Given the description of an element on the screen output the (x, y) to click on. 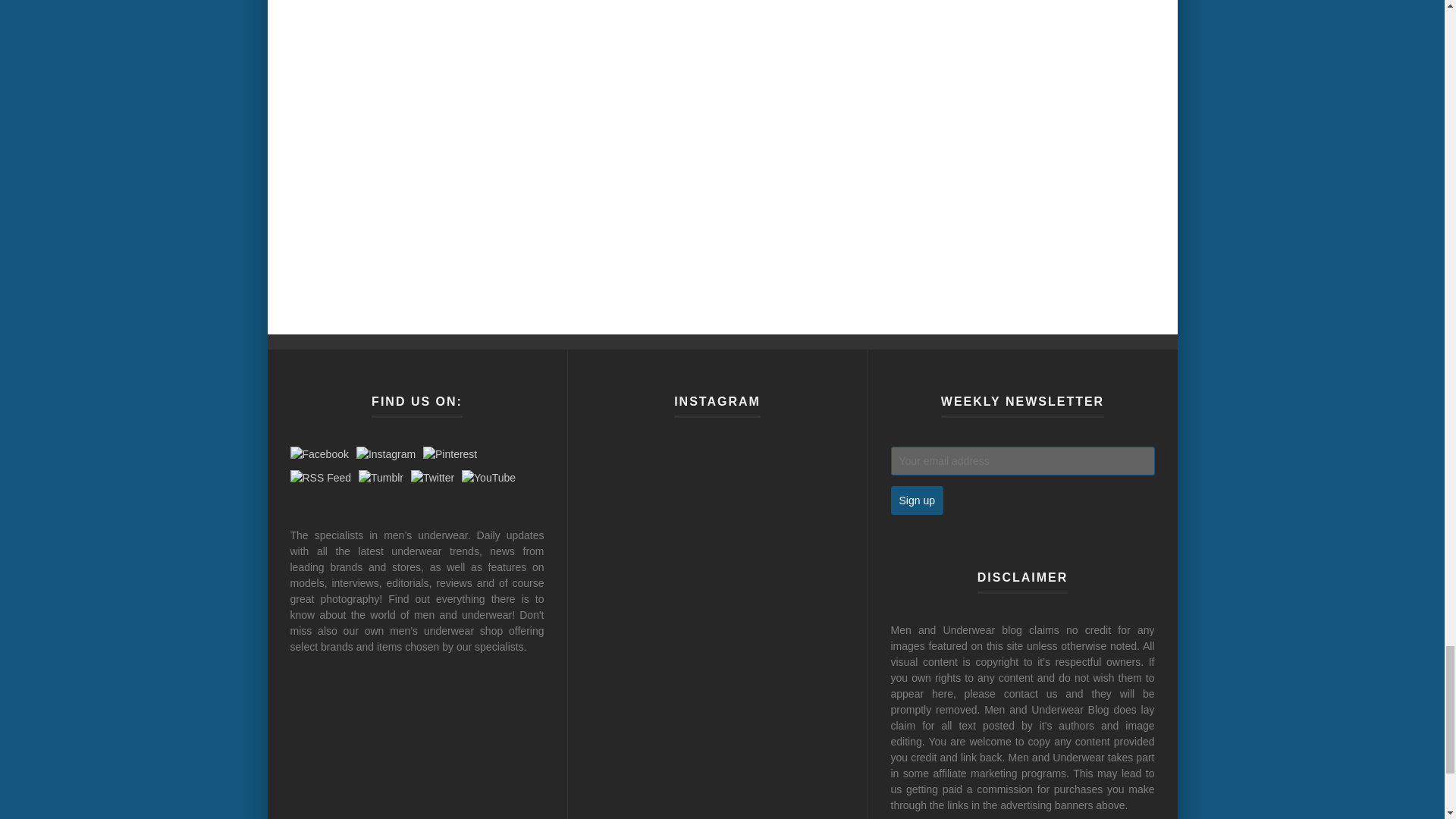
Sign up (915, 500)
